Given the description of an element on the screen output the (x, y) to click on. 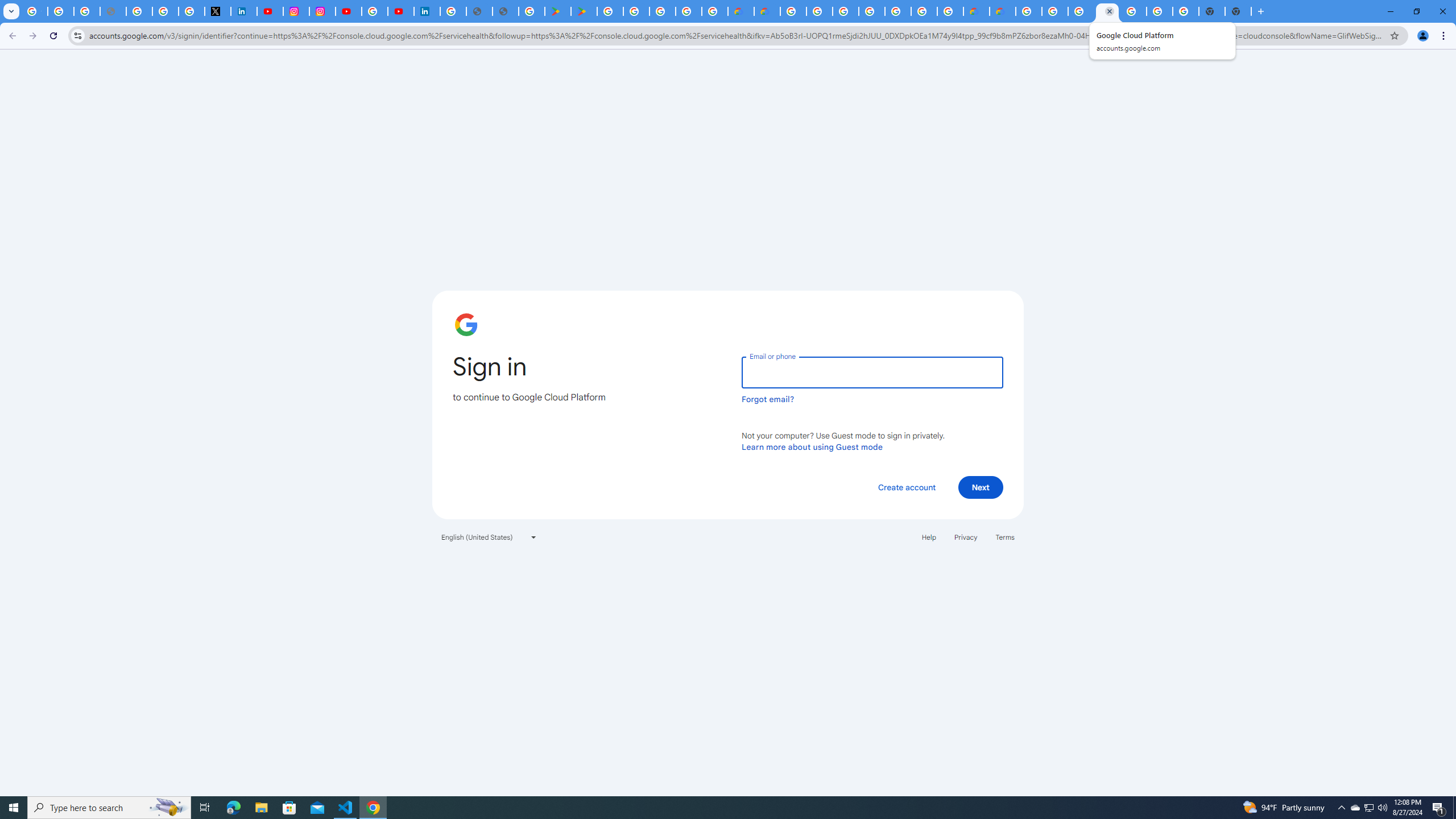
Android Apps on Google Play (558, 11)
User Details (505, 11)
YouTube Content Monetization Policies - How YouTube Works (269, 11)
Google Cloud Platform (1028, 11)
Forgot email? (767, 398)
